Given the description of an element on the screen output the (x, y) to click on. 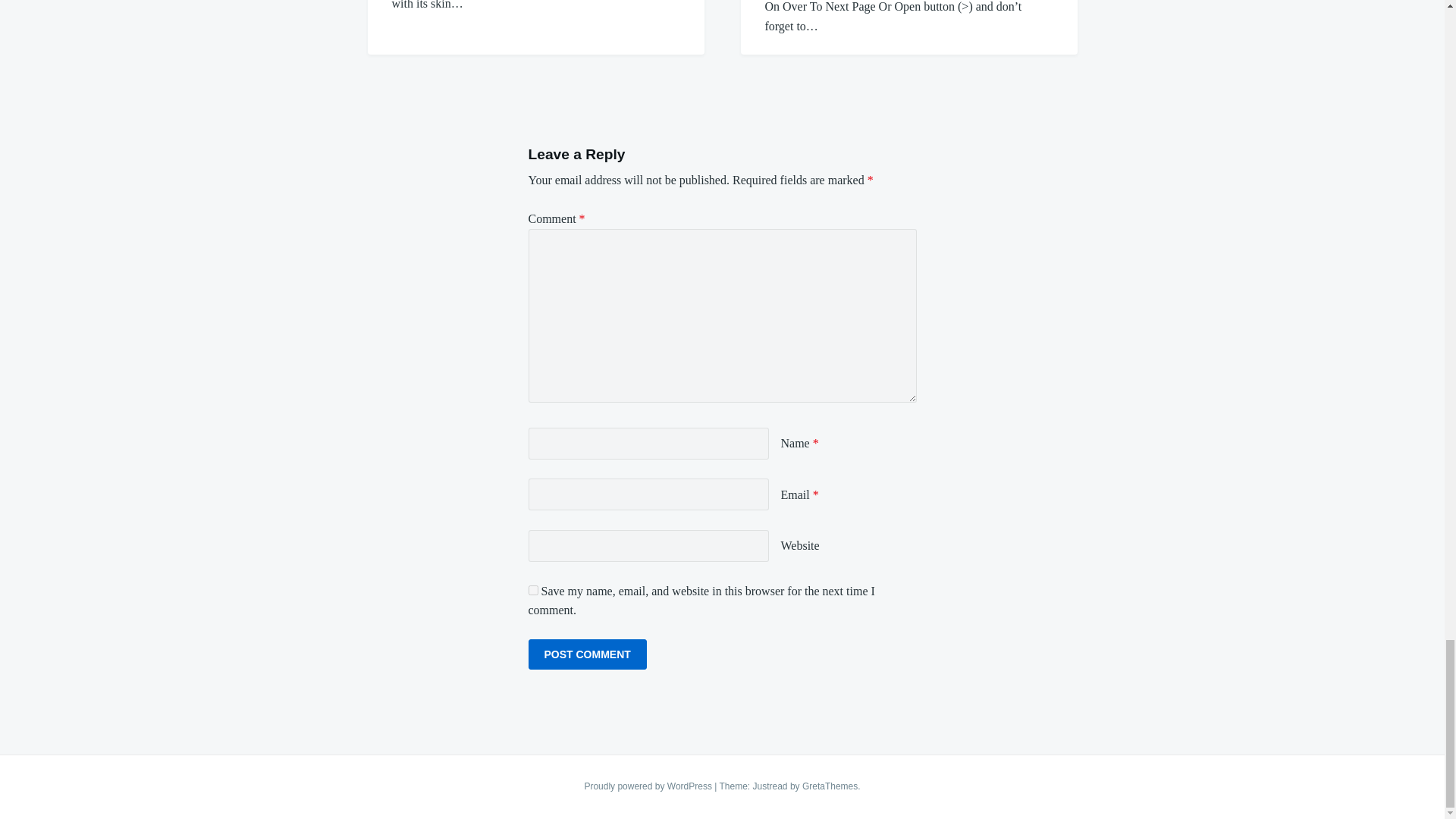
yes (532, 590)
Proudly powered by WordPress (648, 786)
Post Comment (586, 654)
Post Comment (586, 654)
GretaThemes (829, 786)
